Given the description of an element on the screen output the (x, y) to click on. 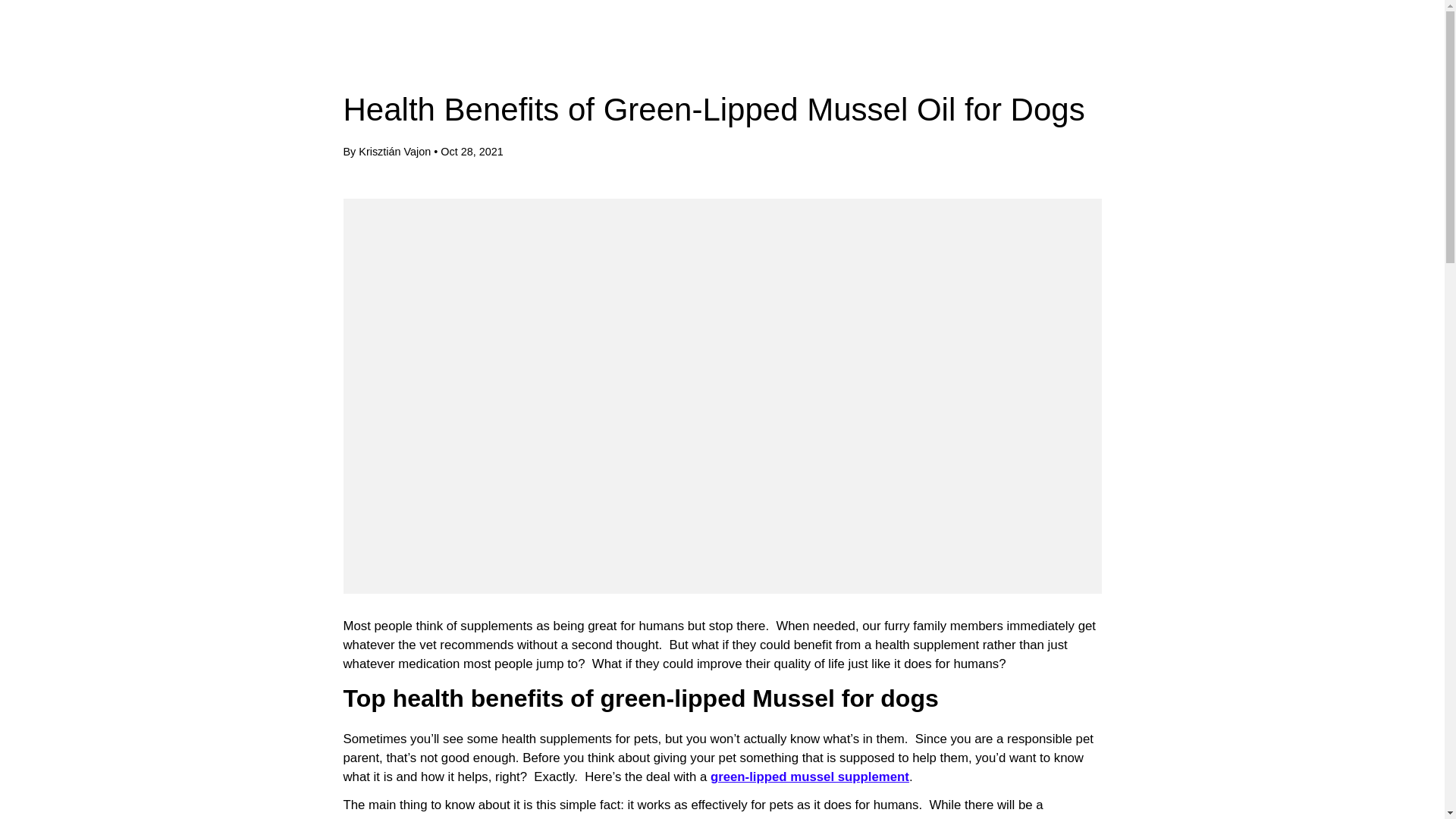
green-lipped mussel supplement (809, 776)
About (336, 45)
Nutrition (255, 45)
Green-lipped mussel oil (809, 776)
Blog (394, 45)
Gourmet (85, 45)
Search (1343, 45)
Restaurants (170, 45)
